Given the description of an element on the screen output the (x, y) to click on. 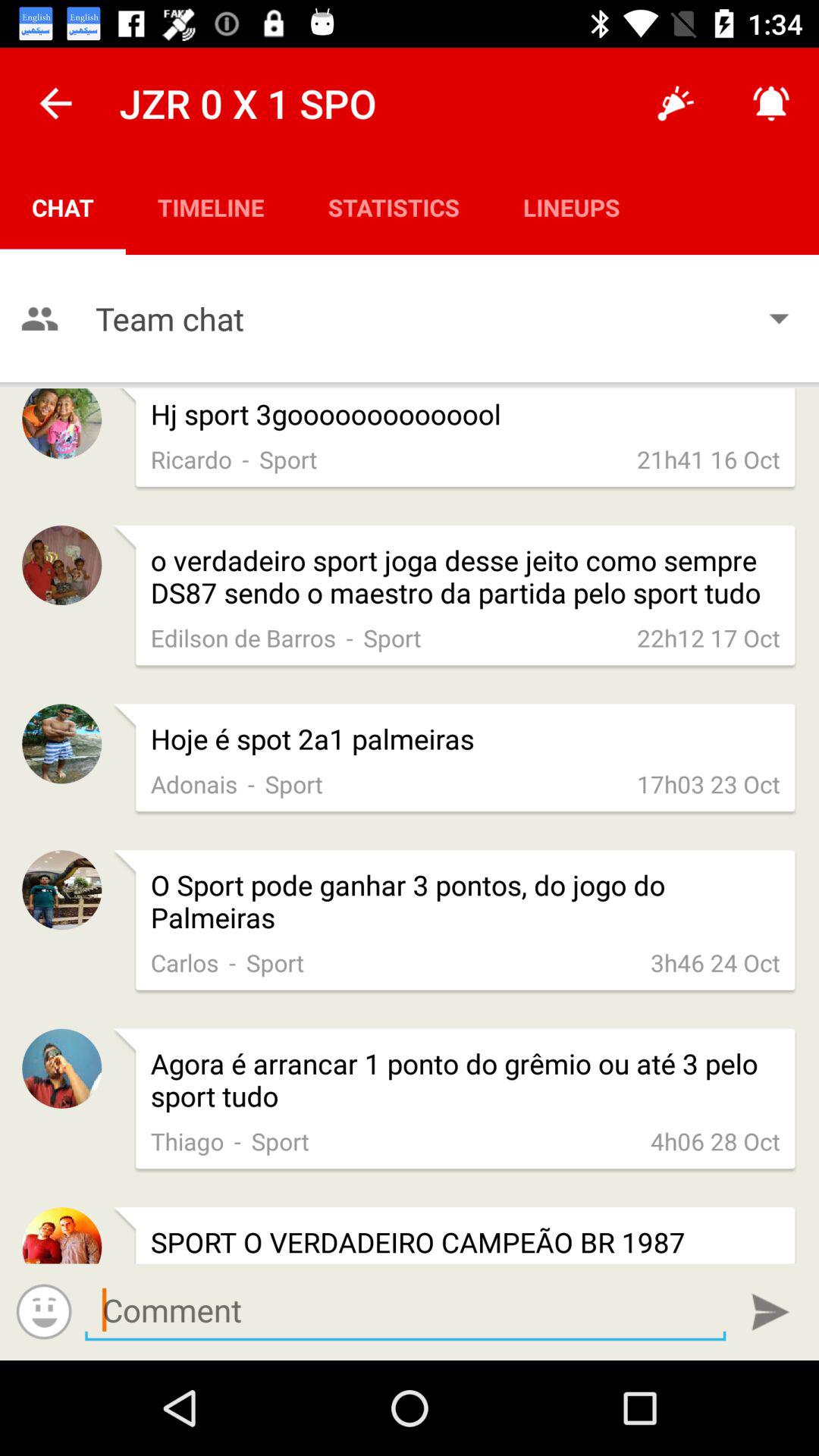
press app to the right of the chat item (210, 206)
